Given the description of an element on the screen output the (x, y) to click on. 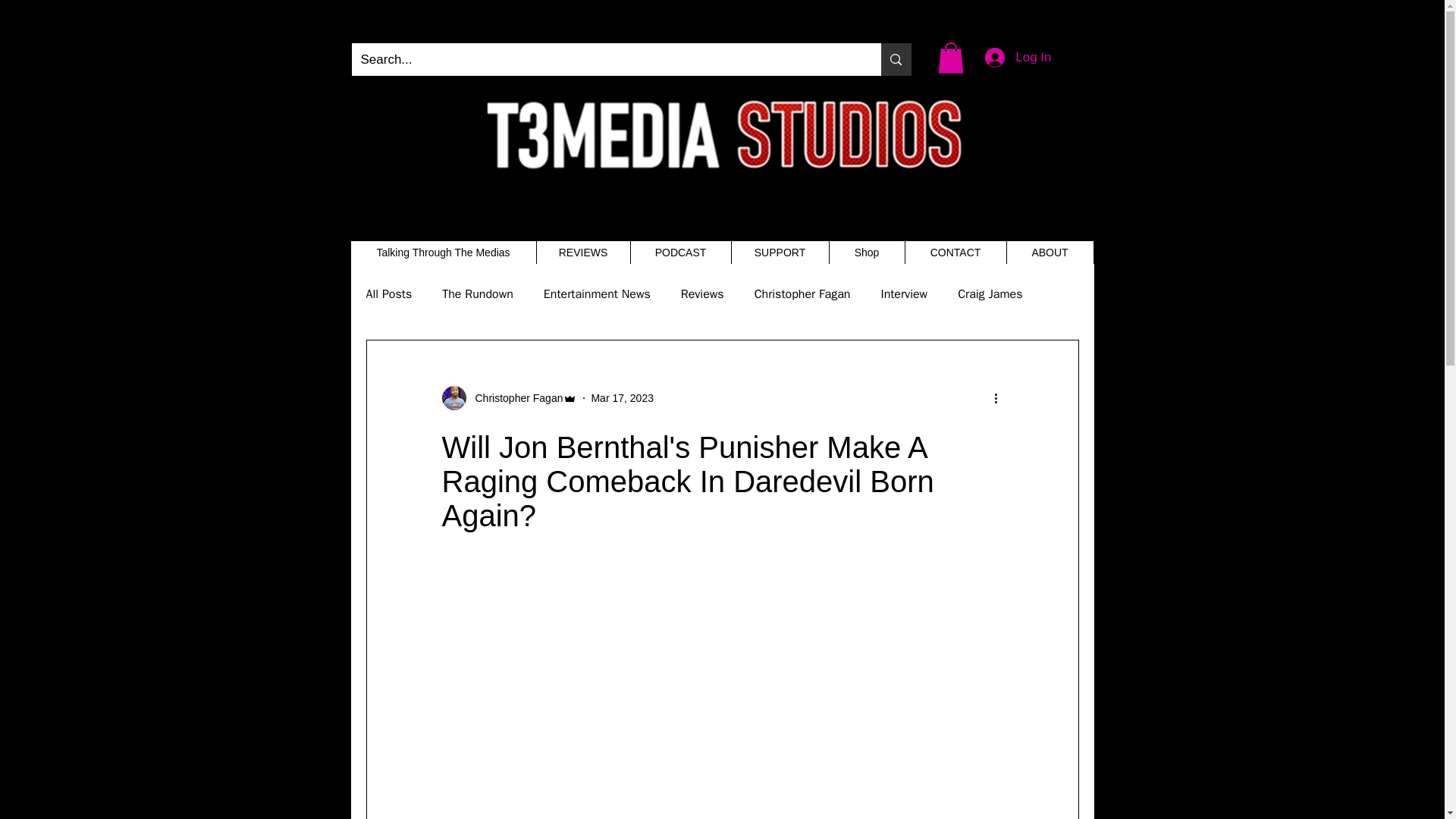
REVIEWS (581, 252)
Entertainment News (596, 294)
Talking Through The Medias (442, 252)
Christopher Fagan (513, 397)
All Posts (388, 294)
Craig James (990, 294)
Interview (903, 294)
Shop (866, 252)
Christopher Fagan (802, 294)
PODCAST (679, 252)
Log In (1017, 57)
Christopher Fagan (508, 397)
ABOUT (1049, 252)
CONTACT (955, 252)
Reviews (702, 294)
